Given the description of an element on the screen output the (x, y) to click on. 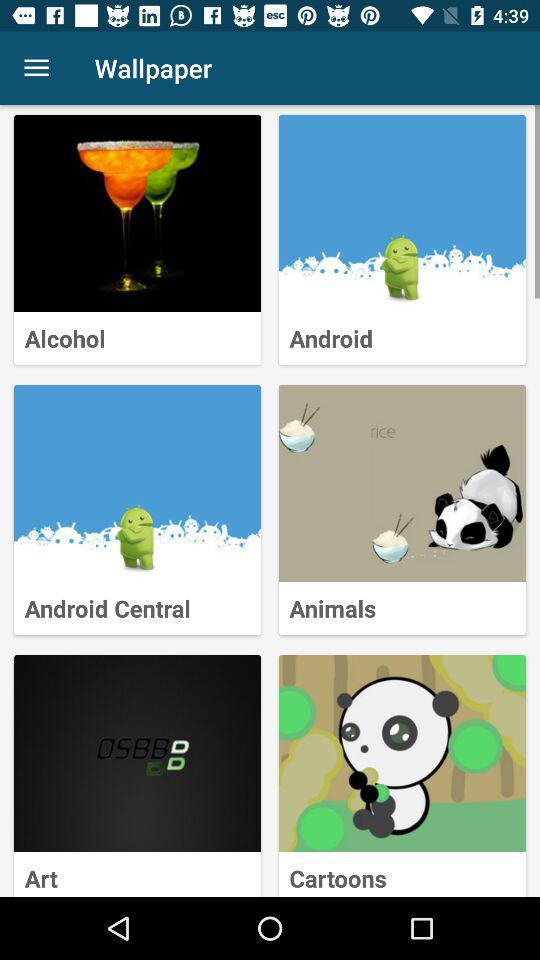
select android wallpaper (402, 213)
